Given the description of an element on the screen output the (x, y) to click on. 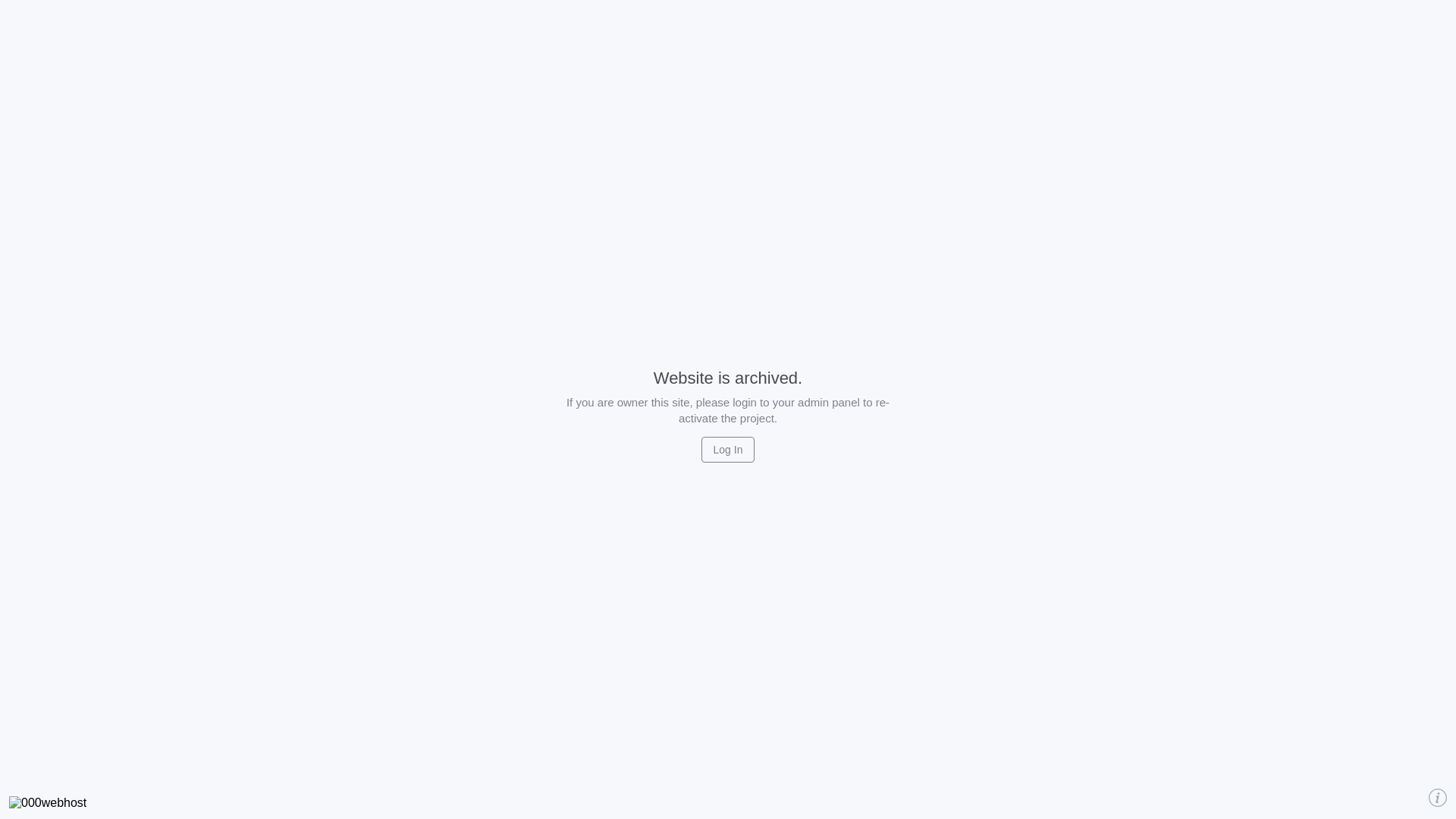
Log In Element type: text (728, 449)
